Given the description of an element on the screen output the (x, y) to click on. 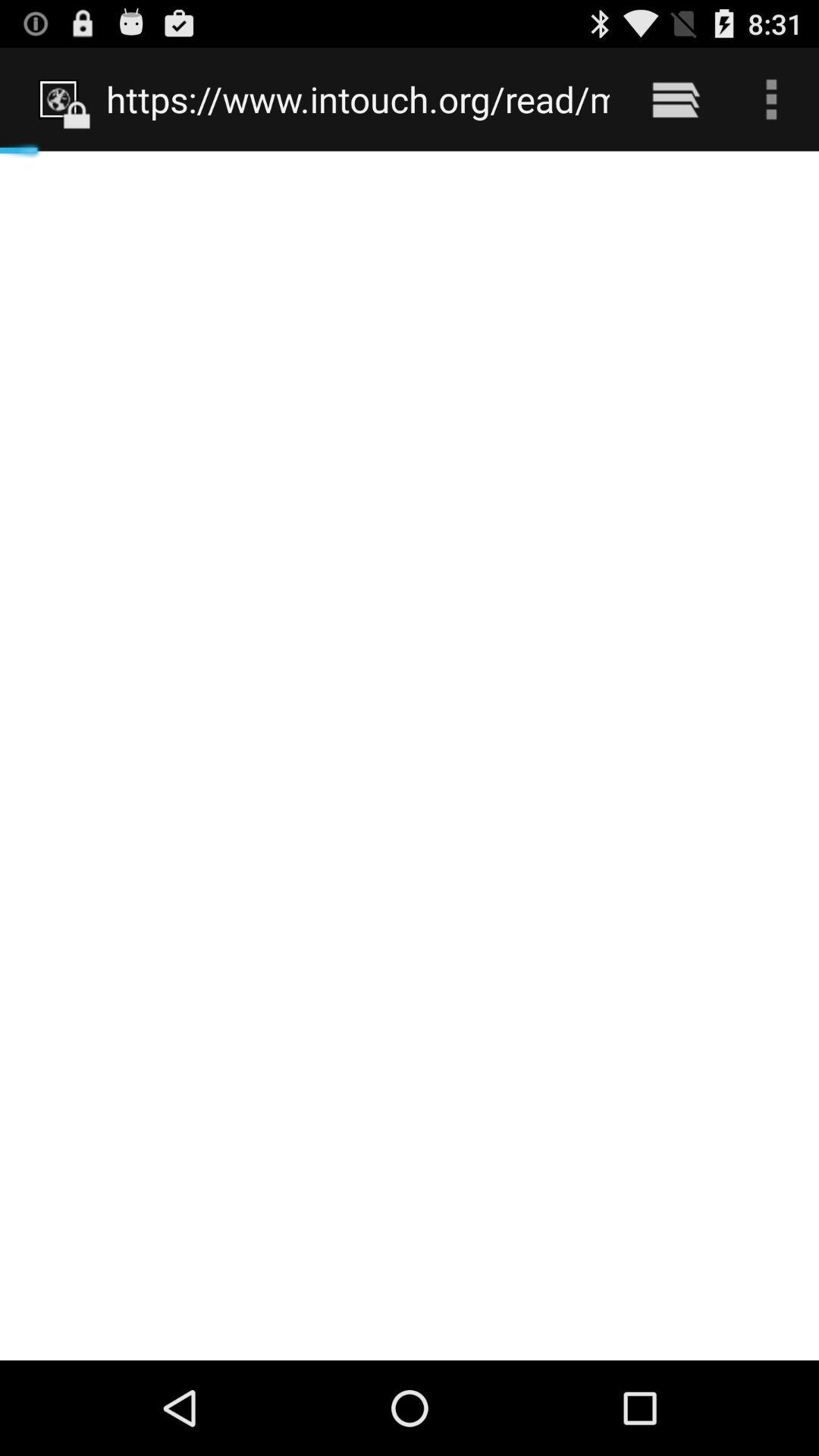
select item at the top (357, 99)
